Given the description of an element on the screen output the (x, y) to click on. 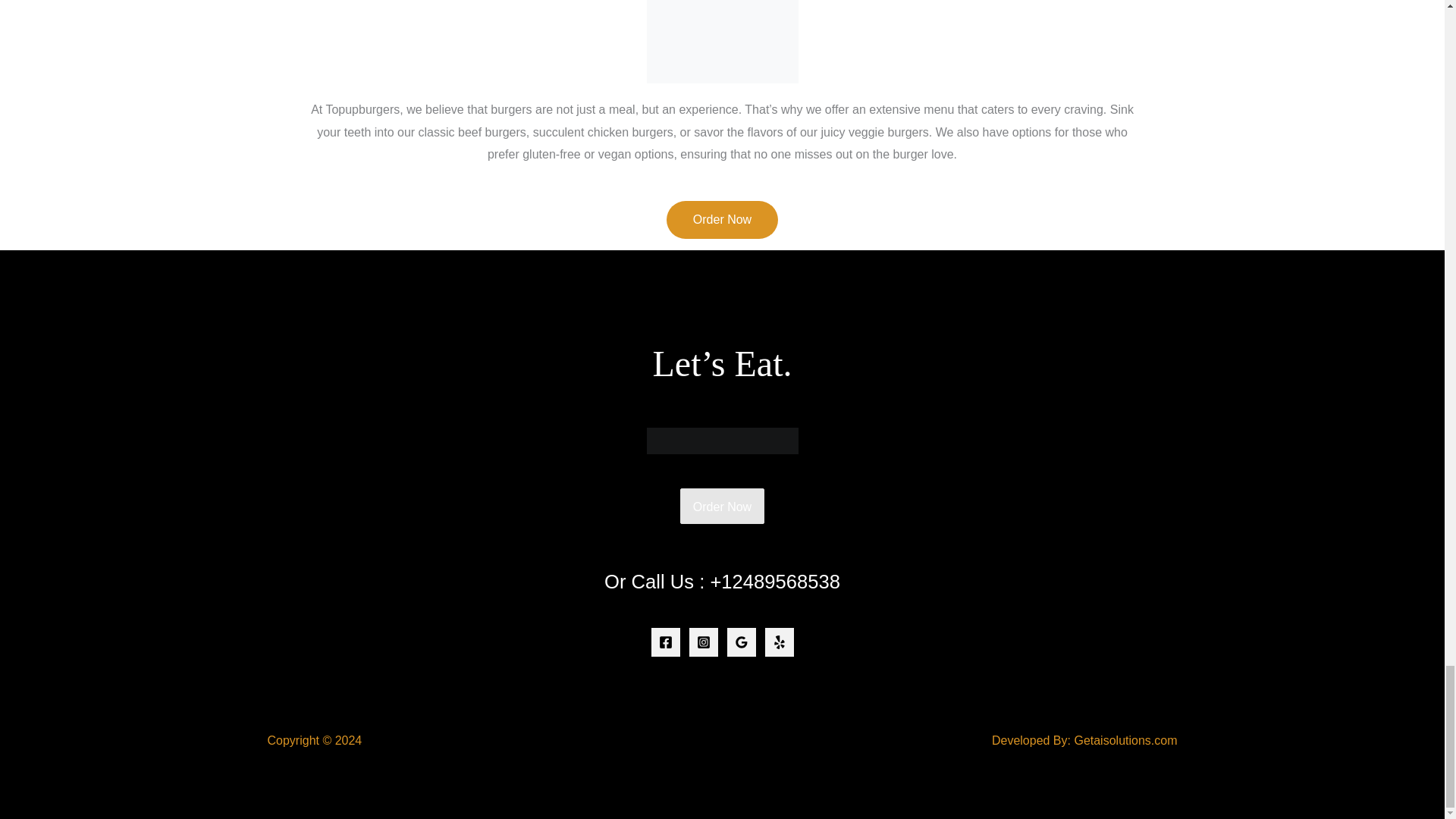
Order Now (721, 506)
Order Now (721, 506)
Order Now (721, 219)
